Given the description of an element on the screen output the (x, y) to click on. 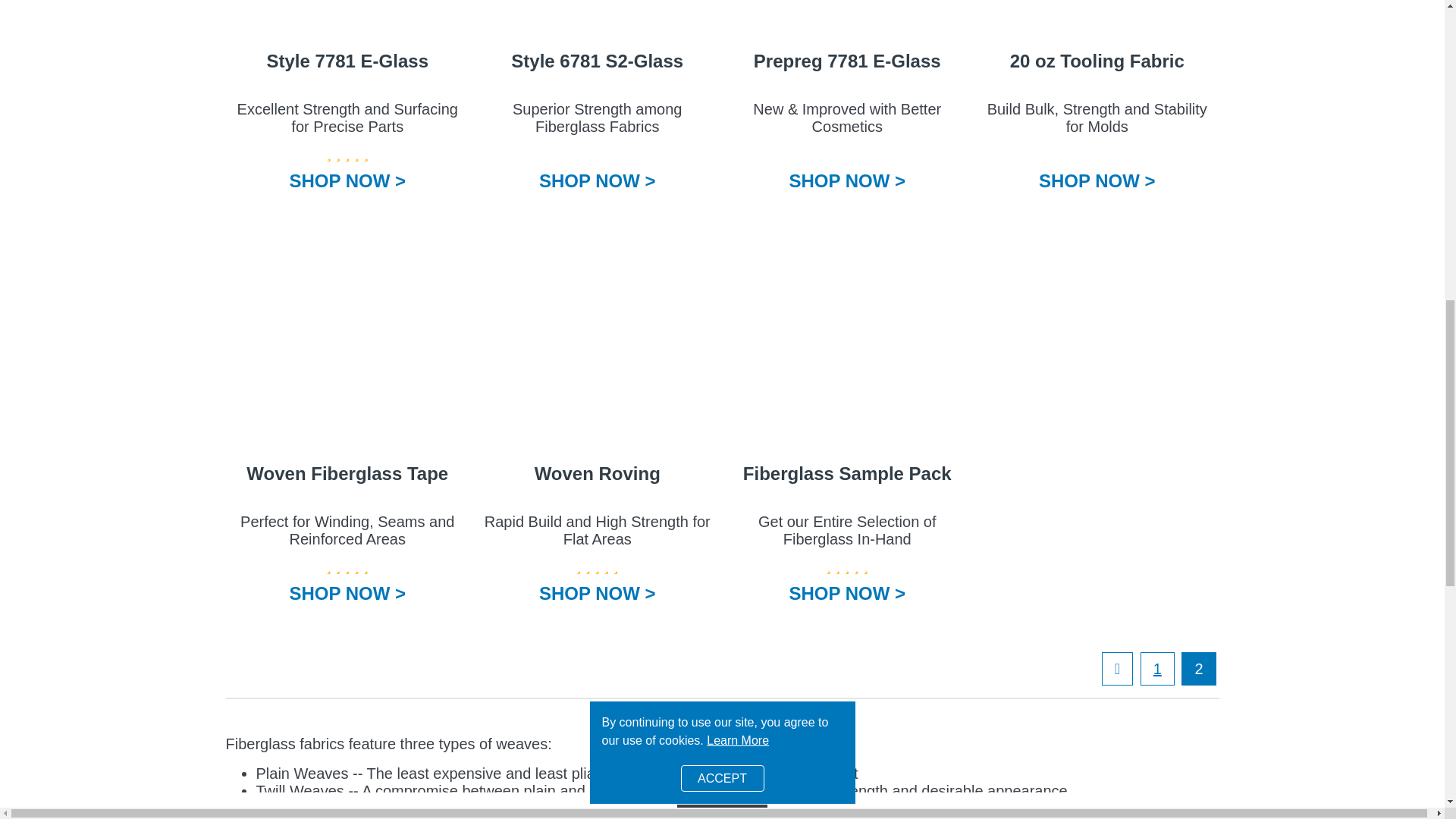
Style 6781 S2-Glass (597, 21)
Woven Fiberglass Tape (346, 341)
Woven Roving (597, 341)
Fiberglass Sample Pack (846, 341)
Style 7781 E-Glass (346, 21)
20 oz Tooling Fabric (1097, 21)
Prepreg 7781 E-Glass (846, 21)
